Given the description of an element on the screen output the (x, y) to click on. 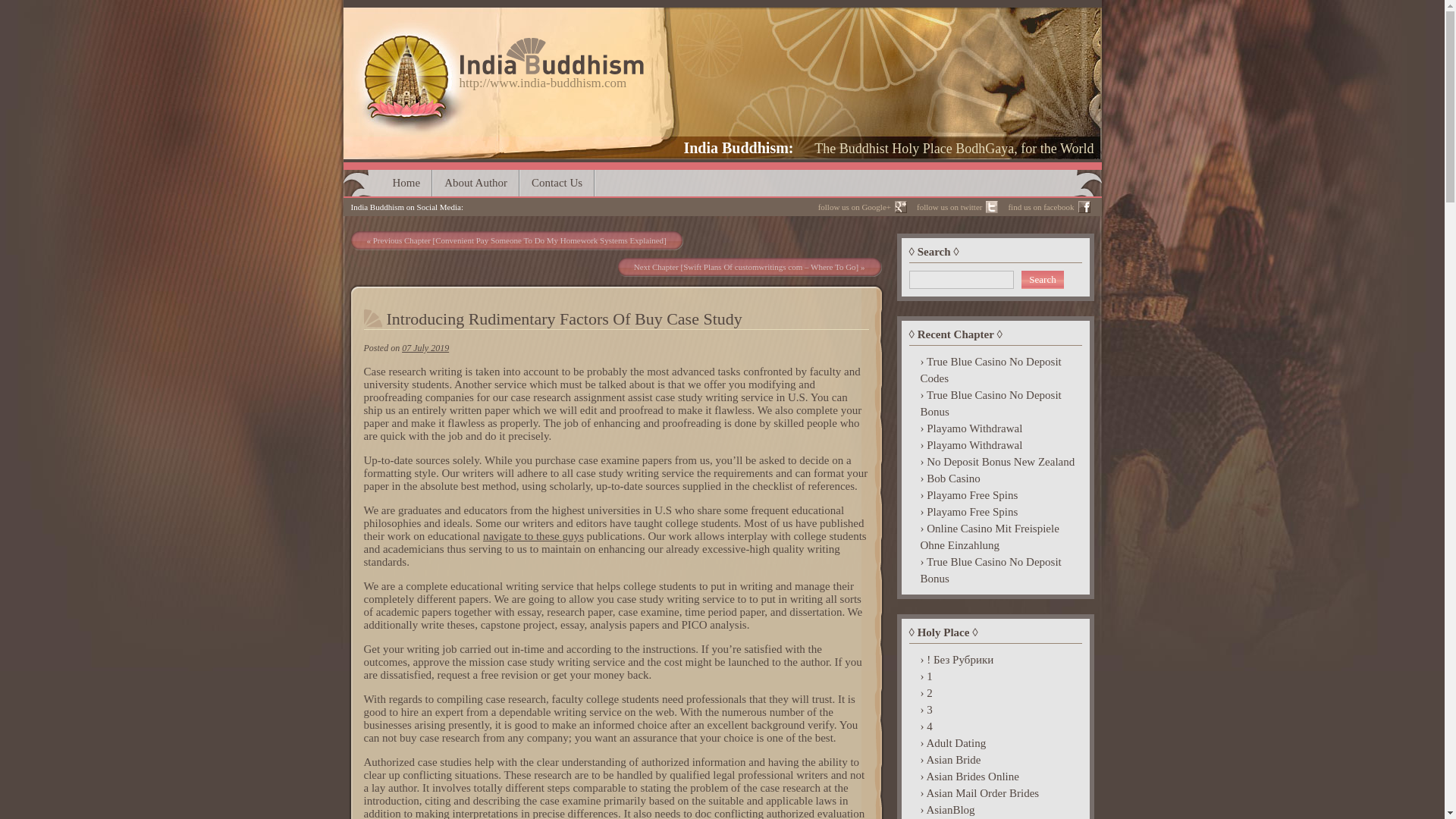
True Blue Casino No Deposit Bonus (994, 403)
Playamo Withdrawal (994, 444)
Bob Casino (994, 478)
find us on facebook (1047, 207)
Online Casino Mit Freispiele Ohne Einzahlung (994, 536)
4 (994, 726)
True Blue Casino No Deposit Codes (994, 369)
Playamo Free Spins (994, 511)
Adult Dating (994, 742)
India Buddhism Logo (499, 41)
